Given the description of an element on the screen output the (x, y) to click on. 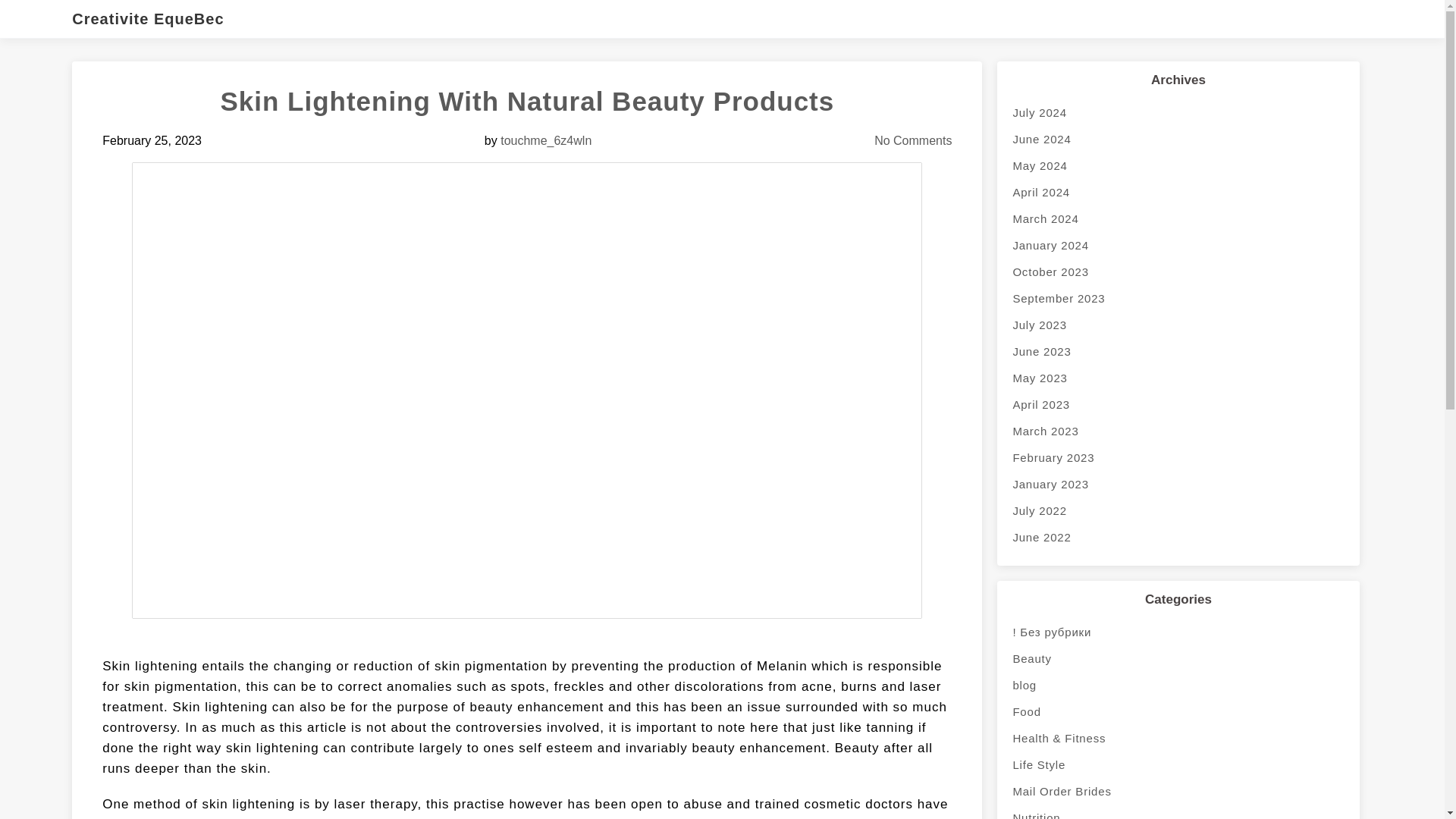
Nutrition (1177, 811)
Mail Order Brides (1177, 791)
Creativite EqueBec (154, 18)
Food (1177, 711)
April 2023 (1177, 404)
July 2022 (1177, 510)
Life Style (1177, 764)
blog (1177, 684)
March 2023 (1177, 430)
January 2024 (1177, 244)
January 2023 (1177, 483)
June 2024 (1177, 139)
March 2024 (1177, 218)
May 2023 (1177, 377)
Beauty (1177, 658)
